Given the description of an element on the screen output the (x, y) to click on. 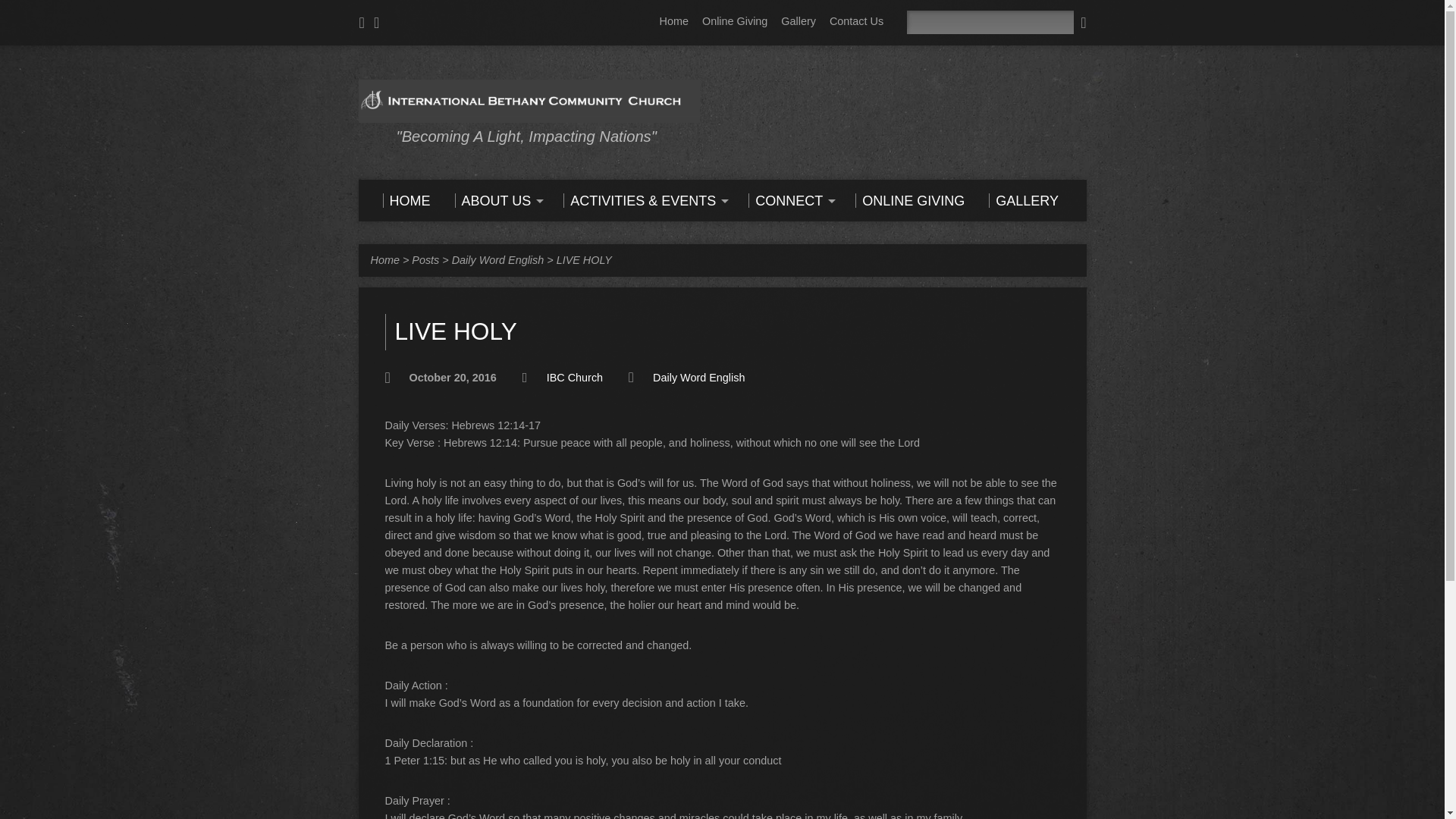
Home (673, 21)
IBC Church (574, 377)
ONLINE GIVING (909, 200)
GALLERY (1023, 200)
HOME (405, 200)
ABOUT US (497, 200)
Posts (425, 259)
Daily Word English (497, 259)
LIVE HOLY (583, 259)
Home (383, 259)
Contact Us (856, 21)
CONNECT (789, 200)
Gallery (797, 21)
Online Giving (734, 21)
